Given the description of an element on the screen output the (x, y) to click on. 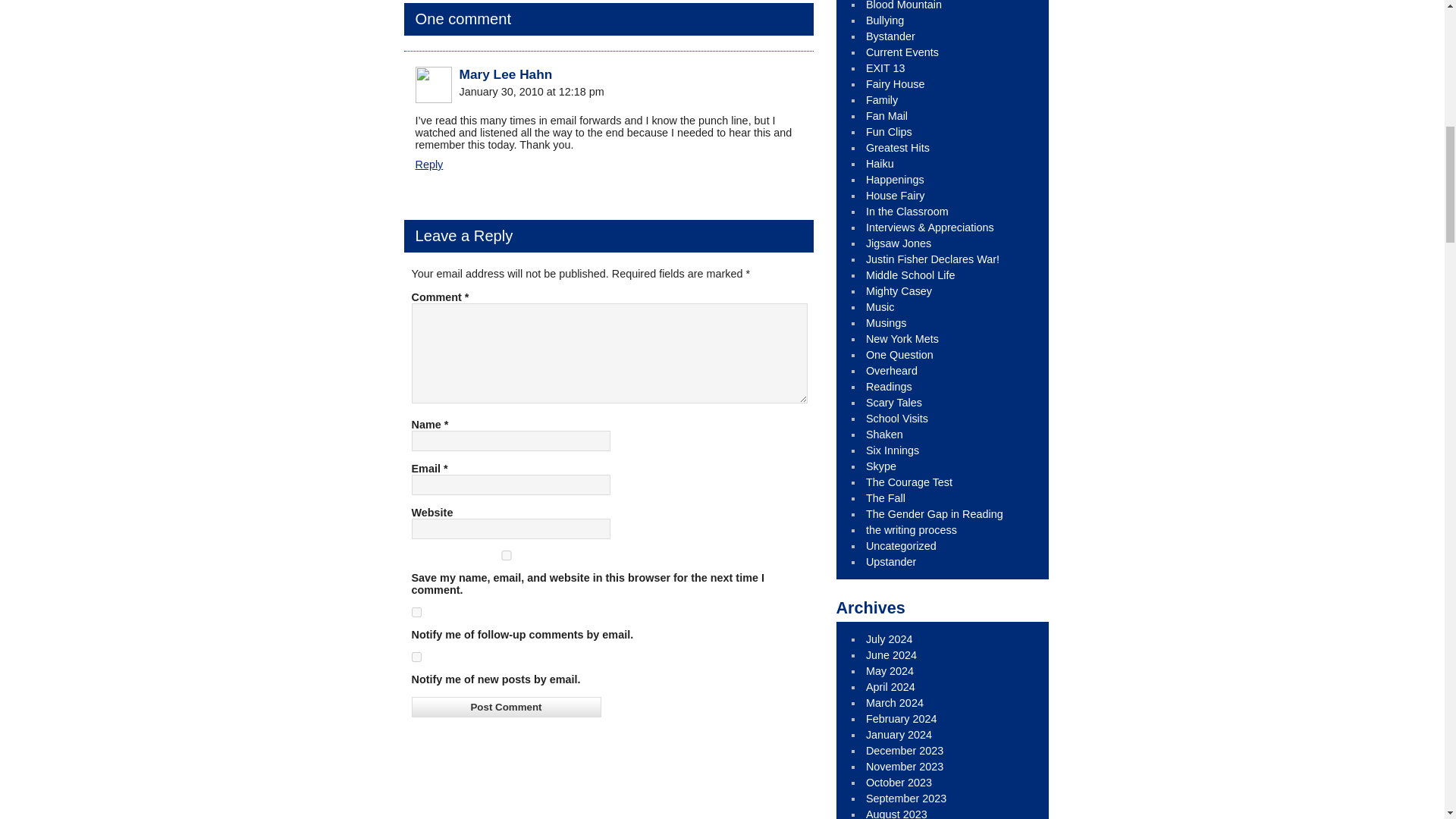
subscribe (415, 612)
Favorite old posts. (898, 147)
yes (504, 555)
Post Comment (504, 706)
Mary Lee Hahn (506, 73)
subscribe (415, 656)
January 30, 2010 at 12:18 pm (532, 91)
